Given the description of an element on the screen output the (x, y) to click on. 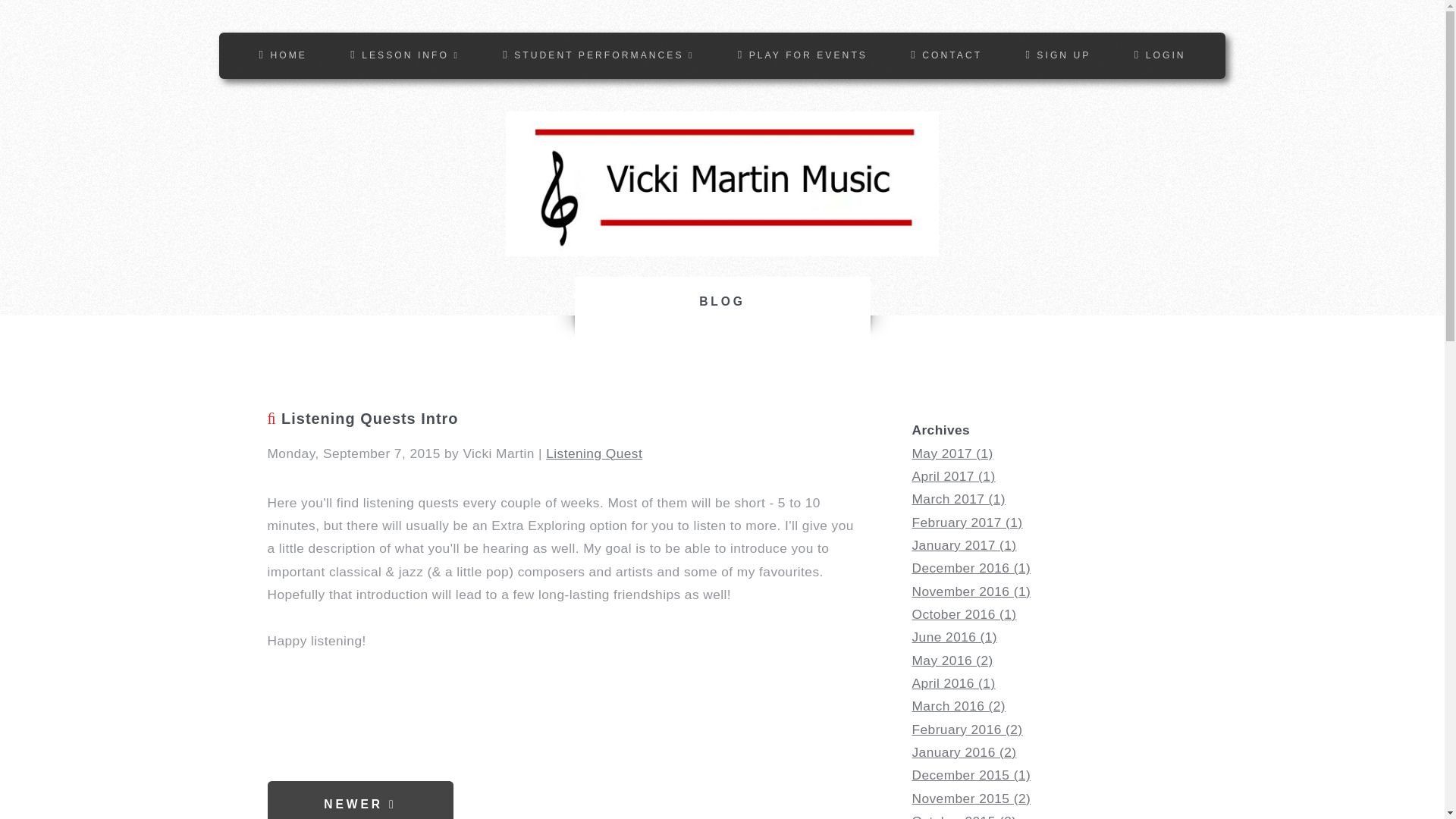
PLAY FOR EVENTS (802, 55)
CONTACT (946, 55)
SIGN UP (1057, 55)
Listening Quest (594, 453)
NEWER (359, 800)
STUDENT PERFORMANCES (598, 55)
LOGIN (1160, 55)
Listening Quests Intro (560, 418)
HOME (283, 55)
LESSON INFO (405, 55)
